Given the description of an element on the screen output the (x, y) to click on. 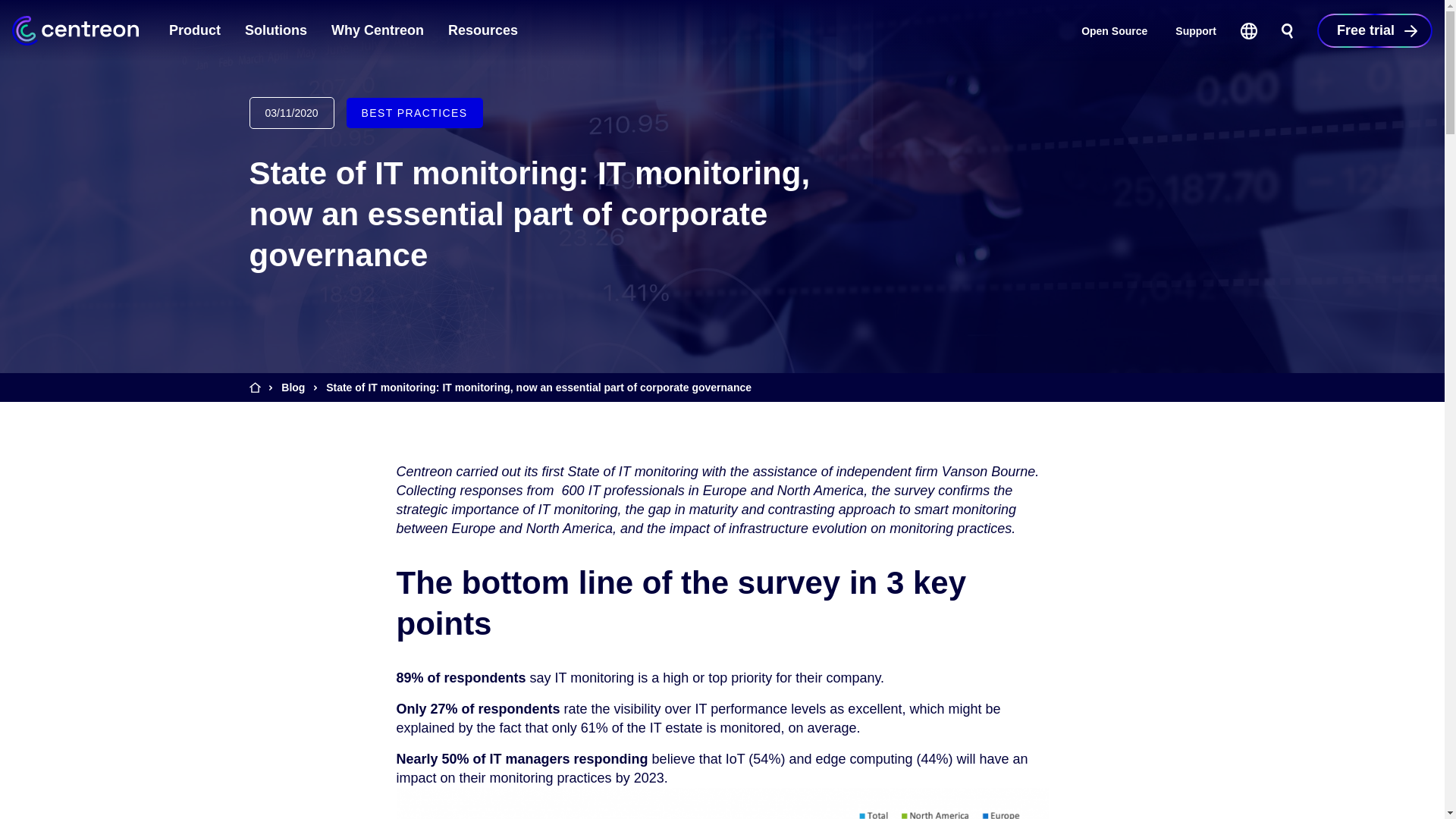
Product (194, 30)
Solutions (275, 30)
